Given the description of an element on the screen output the (x, y) to click on. 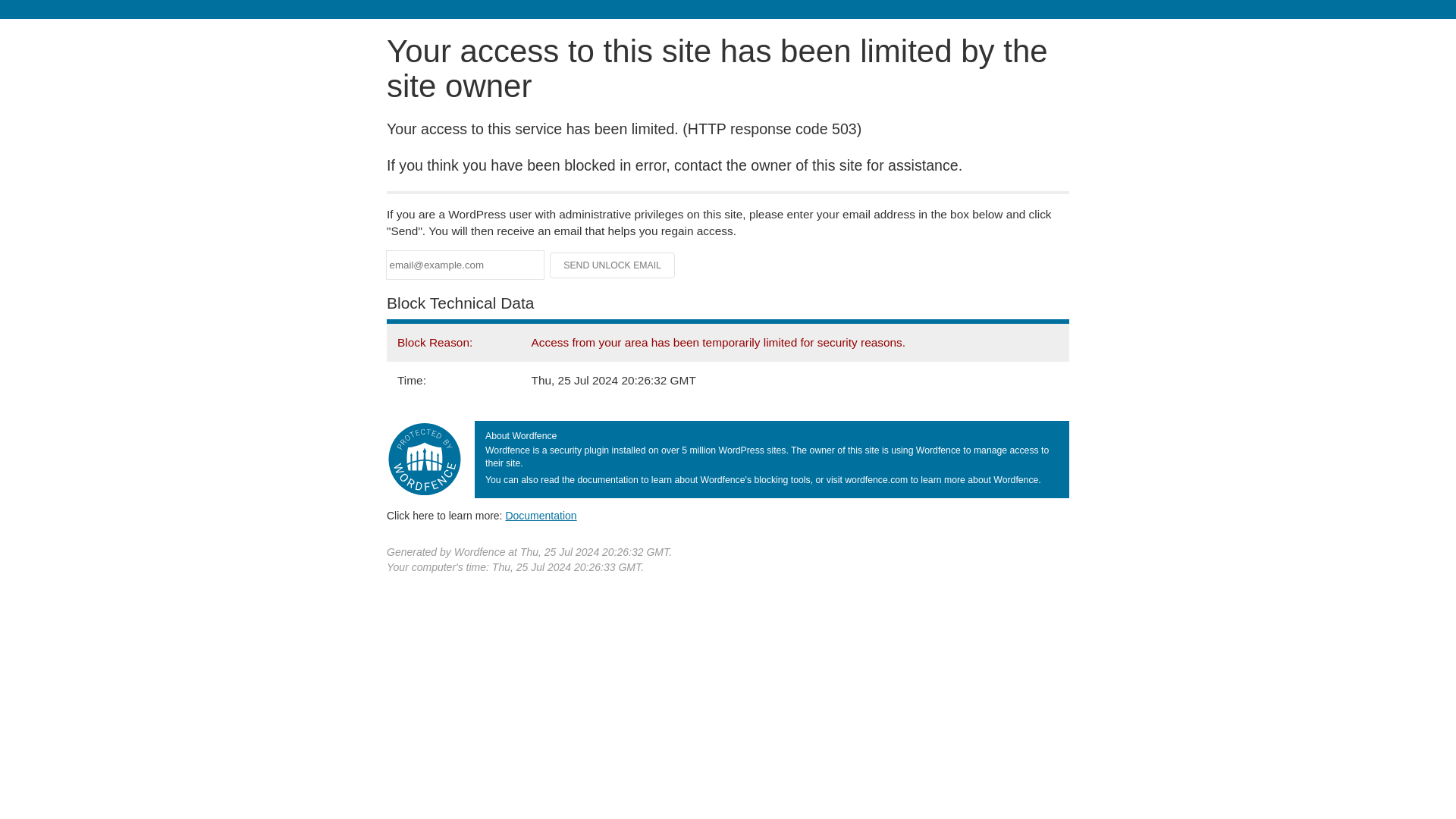
Send Unlock Email (612, 265)
Send Unlock Email (612, 265)
Documentation (540, 515)
